Given the description of an element on the screen output the (x, y) to click on. 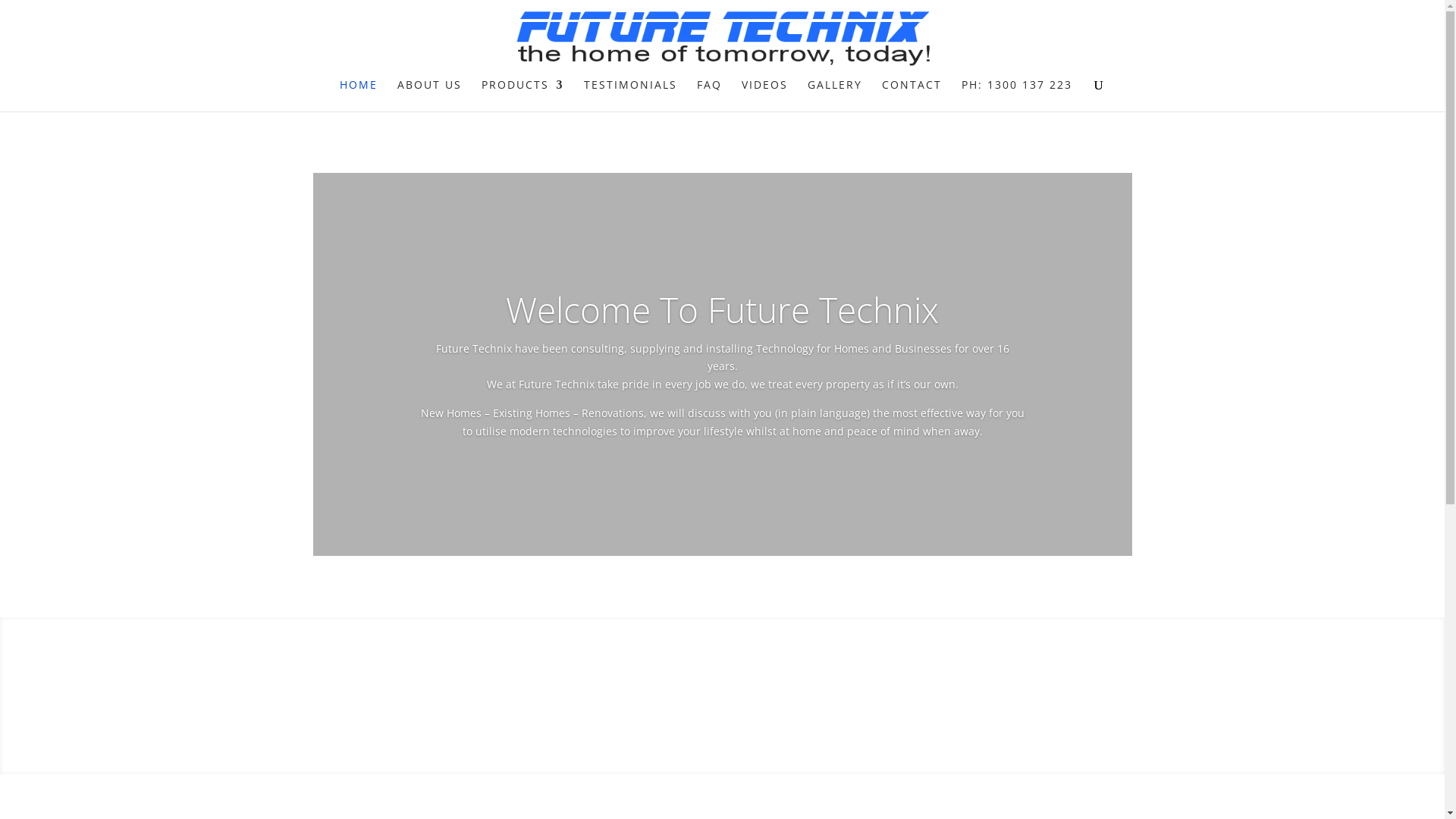
PRODUCTS Element type: text (521, 95)
HOME Element type: text (358, 95)
CONTACT Element type: text (911, 95)
PH: 1300 137 223 Element type: text (1016, 95)
VIDEOS Element type: text (764, 95)
ABOUT US Element type: text (429, 95)
GALLERY Element type: text (833, 95)
FAQ Element type: text (708, 95)
TESTIMONIALS Element type: text (630, 95)
